Given the description of an element on the screen output the (x, y) to click on. 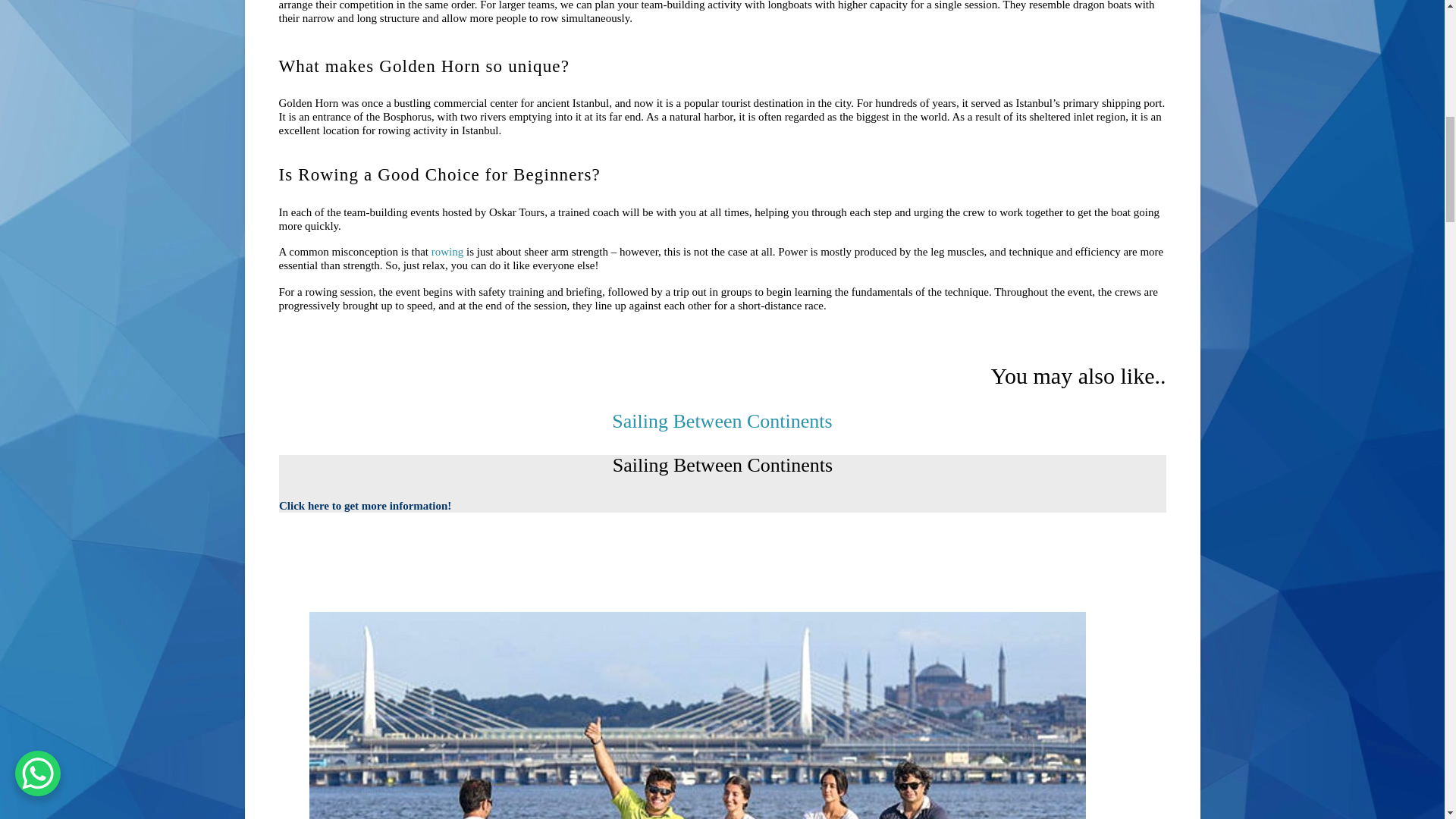
Click here to get more information! (365, 506)
Sailing Between Continents (721, 421)
rowing (447, 251)
Dragon Boat (721, 421)
